Given the description of an element on the screen output the (x, y) to click on. 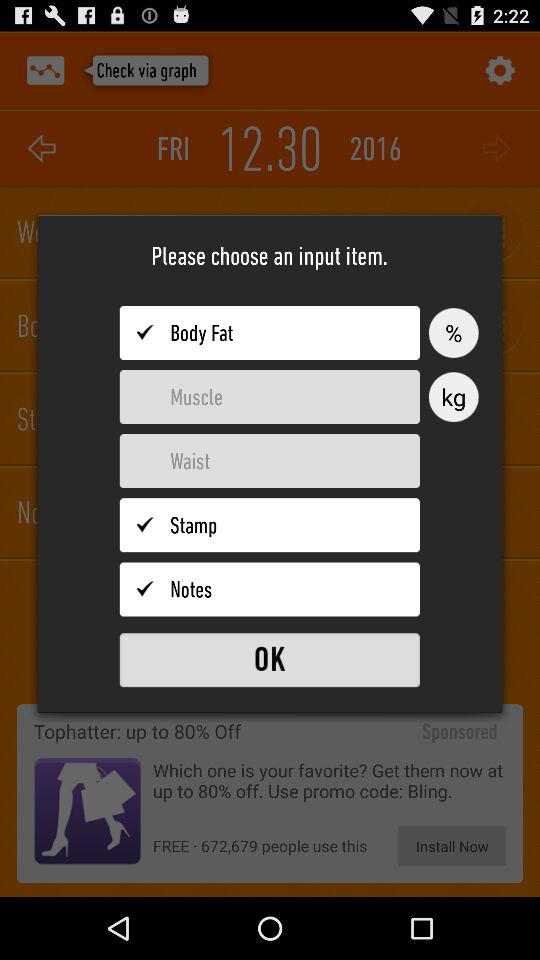
input waist measurement (269, 461)
